Given the description of an element on the screen output the (x, y) to click on. 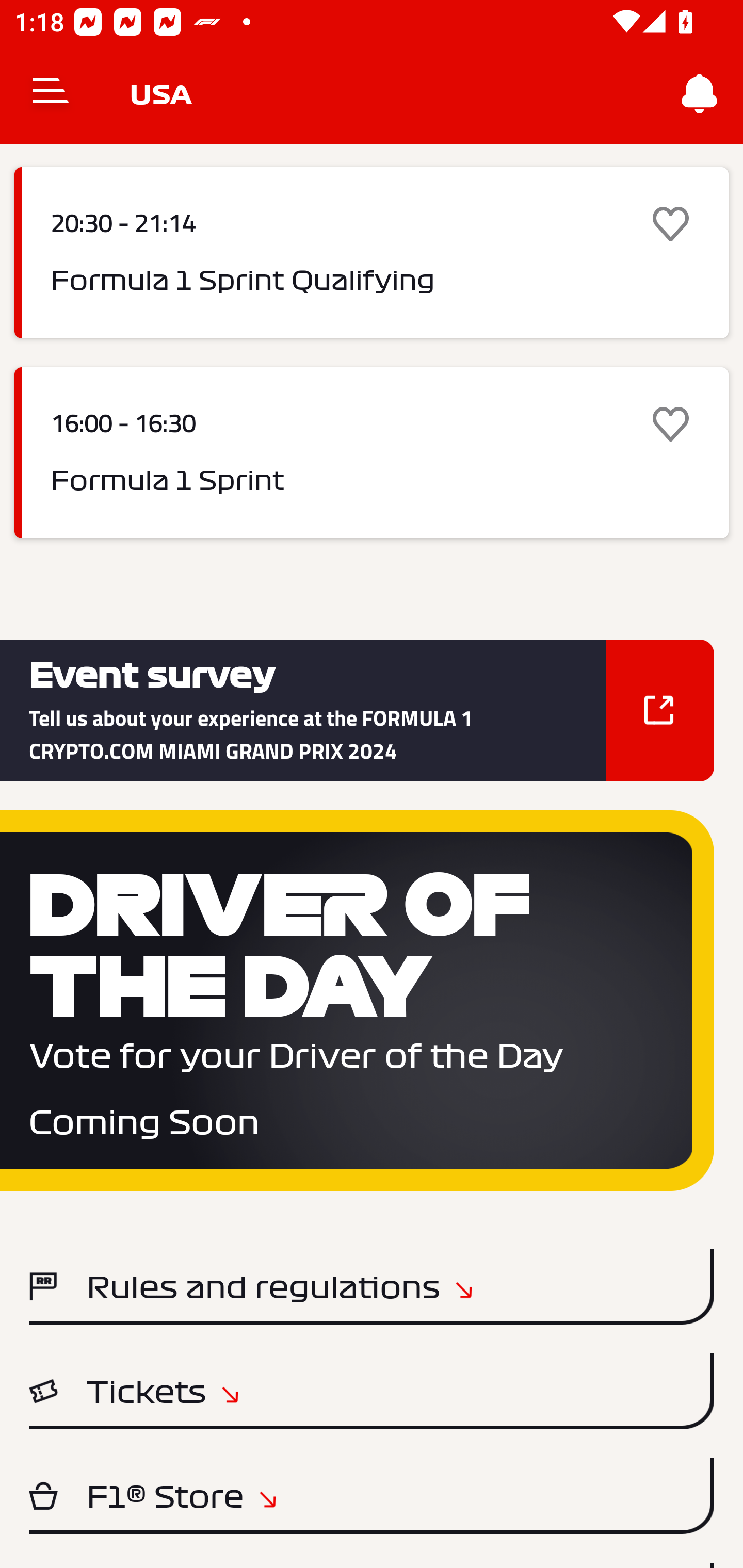
Navigate up (50, 93)
Notifications (699, 93)
20:30 - 21:14 Formula 1 Sprint Qualifying (371, 252)
16:00 - 16:30 Formula 1 Sprint (371, 451)
Rules and regulations (371, 1286)
Tickets (371, 1391)
F1® Store (371, 1495)
